Given the description of an element on the screen output the (x, y) to click on. 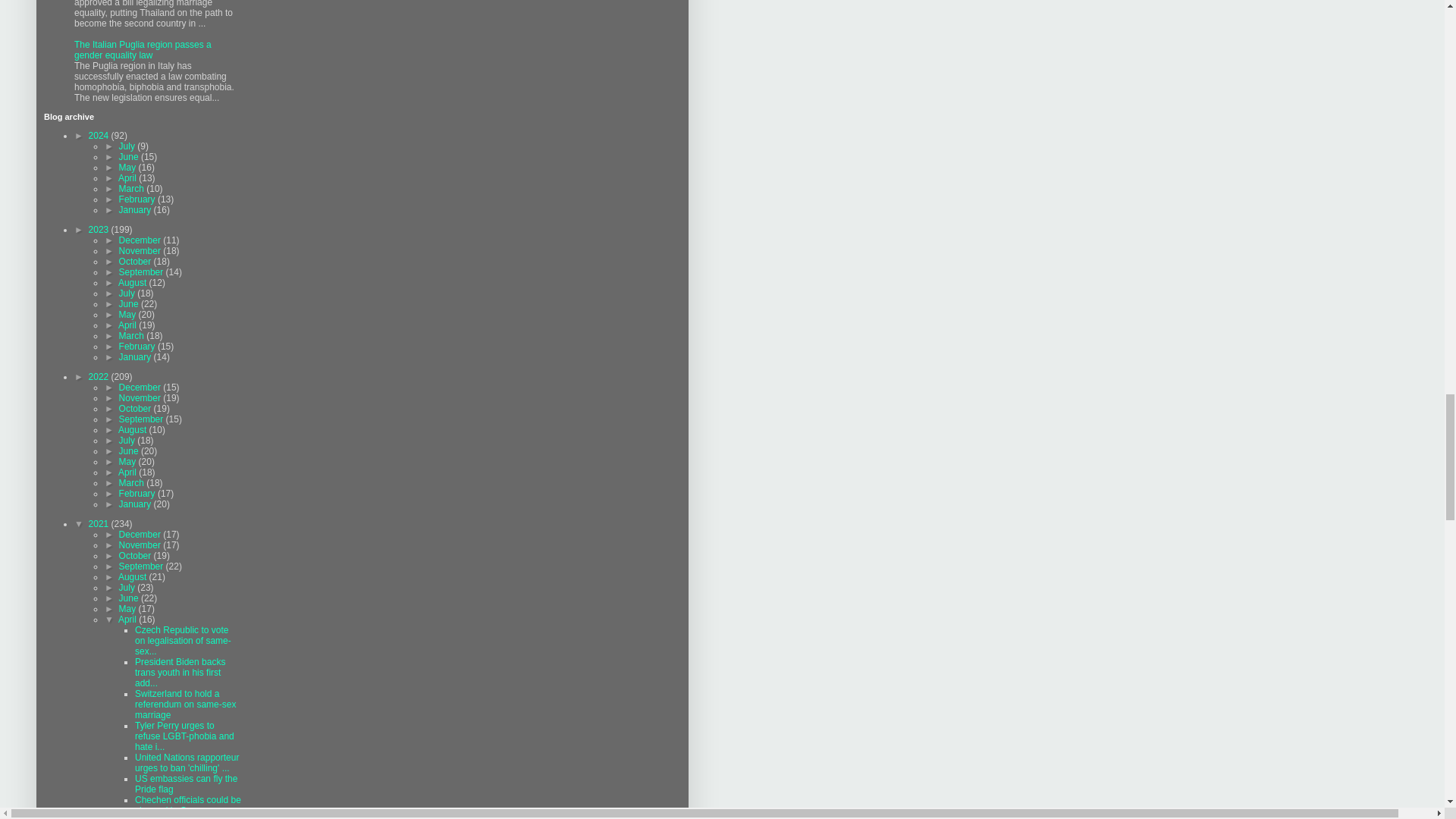
2024 (100, 135)
July (128, 145)
The Italian Puglia region passes a gender equality law (142, 49)
